Given the description of an element on the screen output the (x, y) to click on. 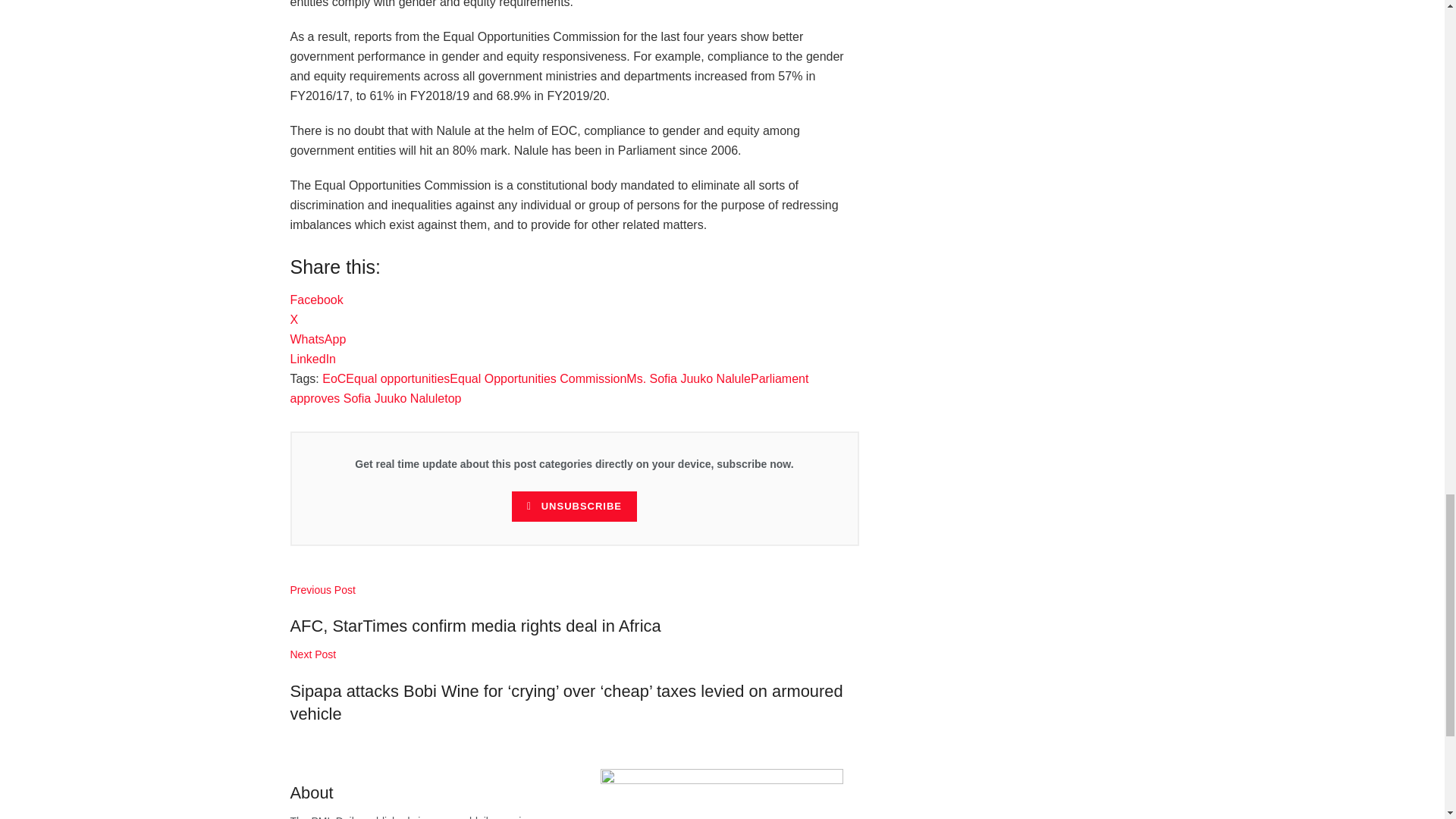
Click to share on LinkedIn (312, 358)
Click to share on WhatsApp (317, 338)
Click to share on Facebook (315, 299)
